Given the description of an element on the screen output the (x, y) to click on. 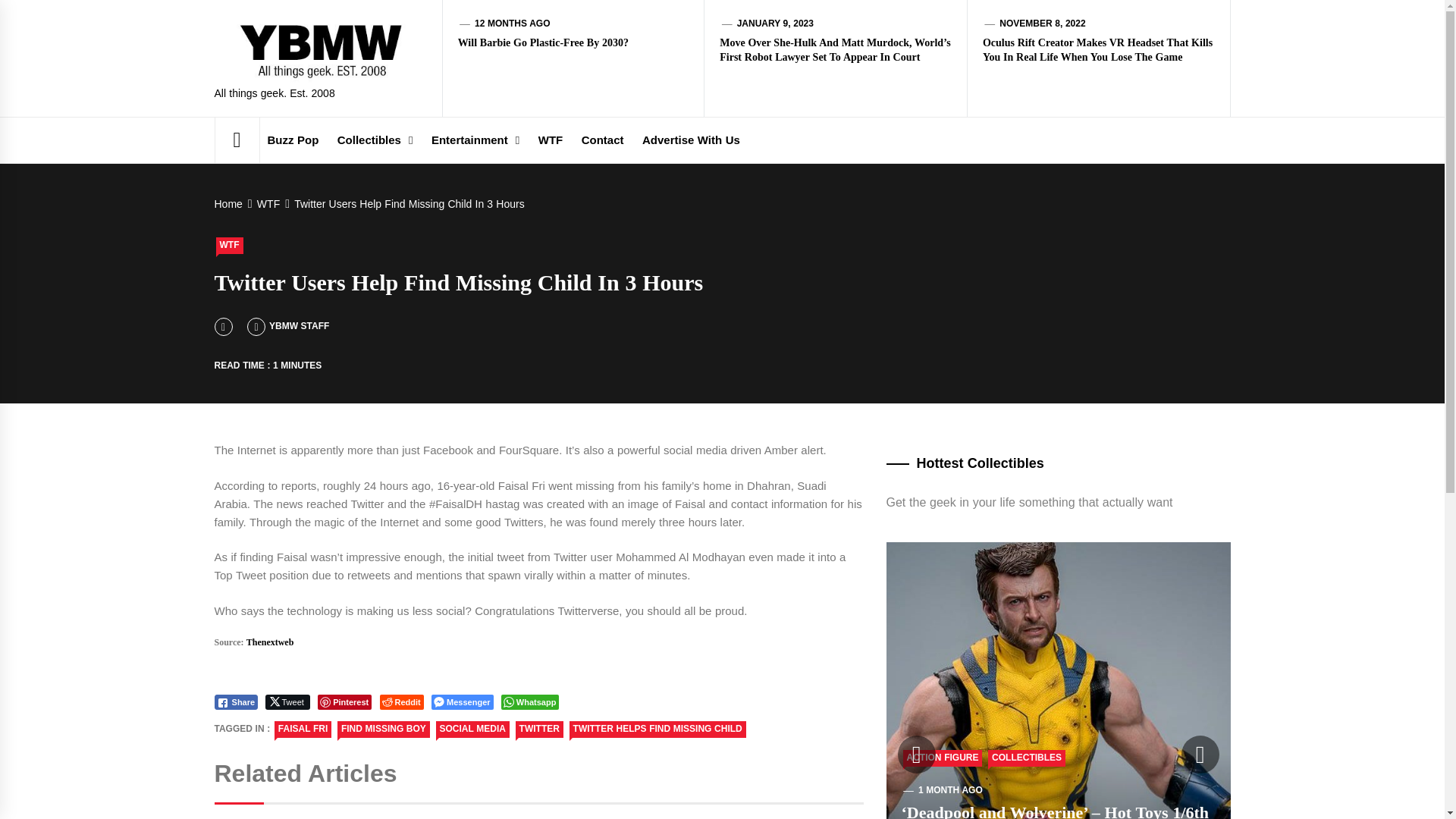
WTF (266, 203)
Share (235, 702)
Messenger (461, 702)
Entertainment (475, 139)
Buzz Pop (292, 139)
YBMW STAFF (288, 326)
Thenextweb (270, 642)
Advertise With Us (691, 139)
NOVEMBER 8, 2022 (1041, 23)
SOCIAL MEDIA (472, 729)
FIND MISSING BOY (383, 729)
Whatsapp (529, 702)
Collectibles (375, 139)
Will Barbie Go Plastic-Free By 2030? (543, 42)
